Given the description of an element on the screen output the (x, y) to click on. 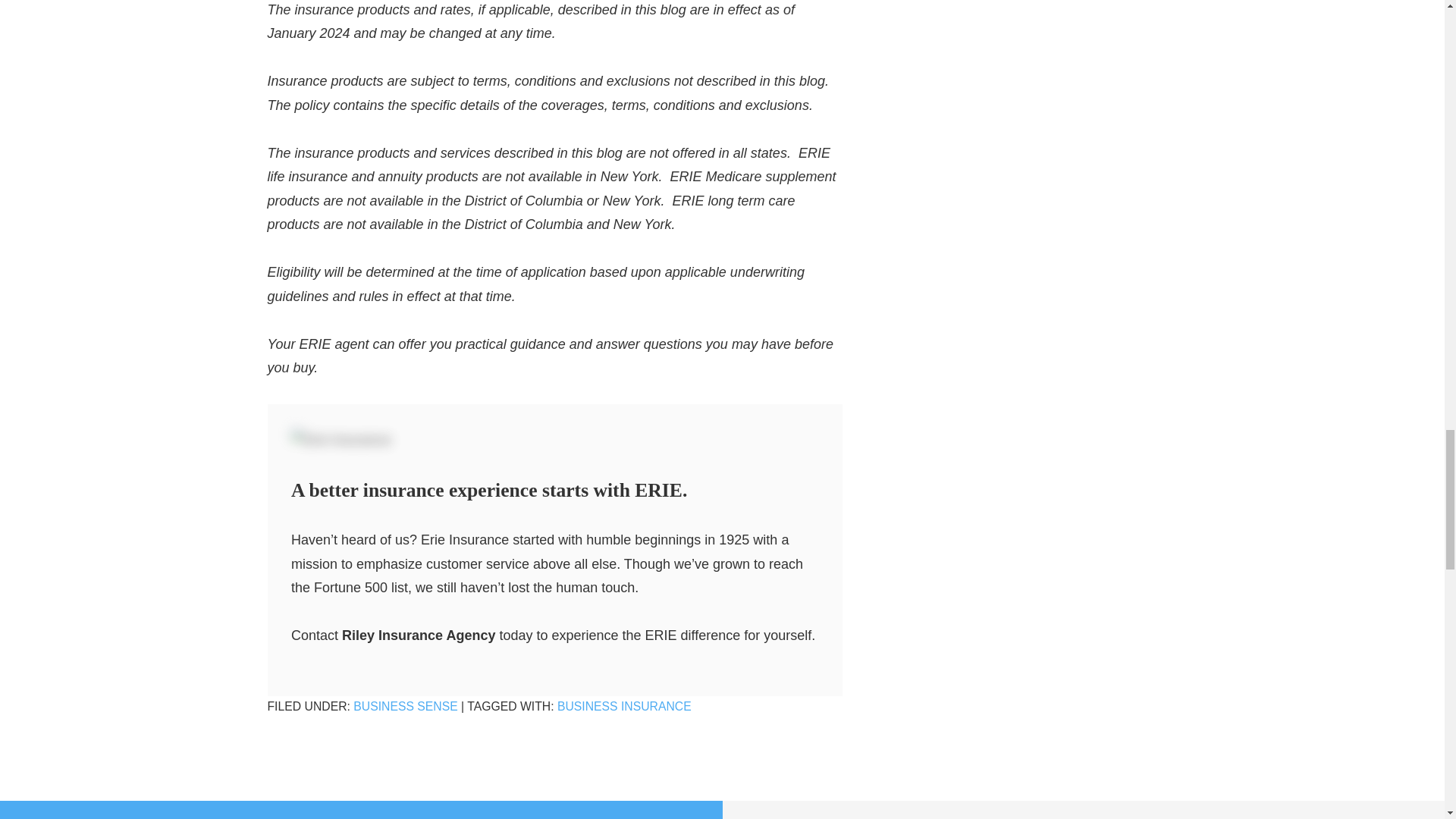
Business Insurance (624, 706)
Business Sense (405, 706)
